Given the description of an element on the screen output the (x, y) to click on. 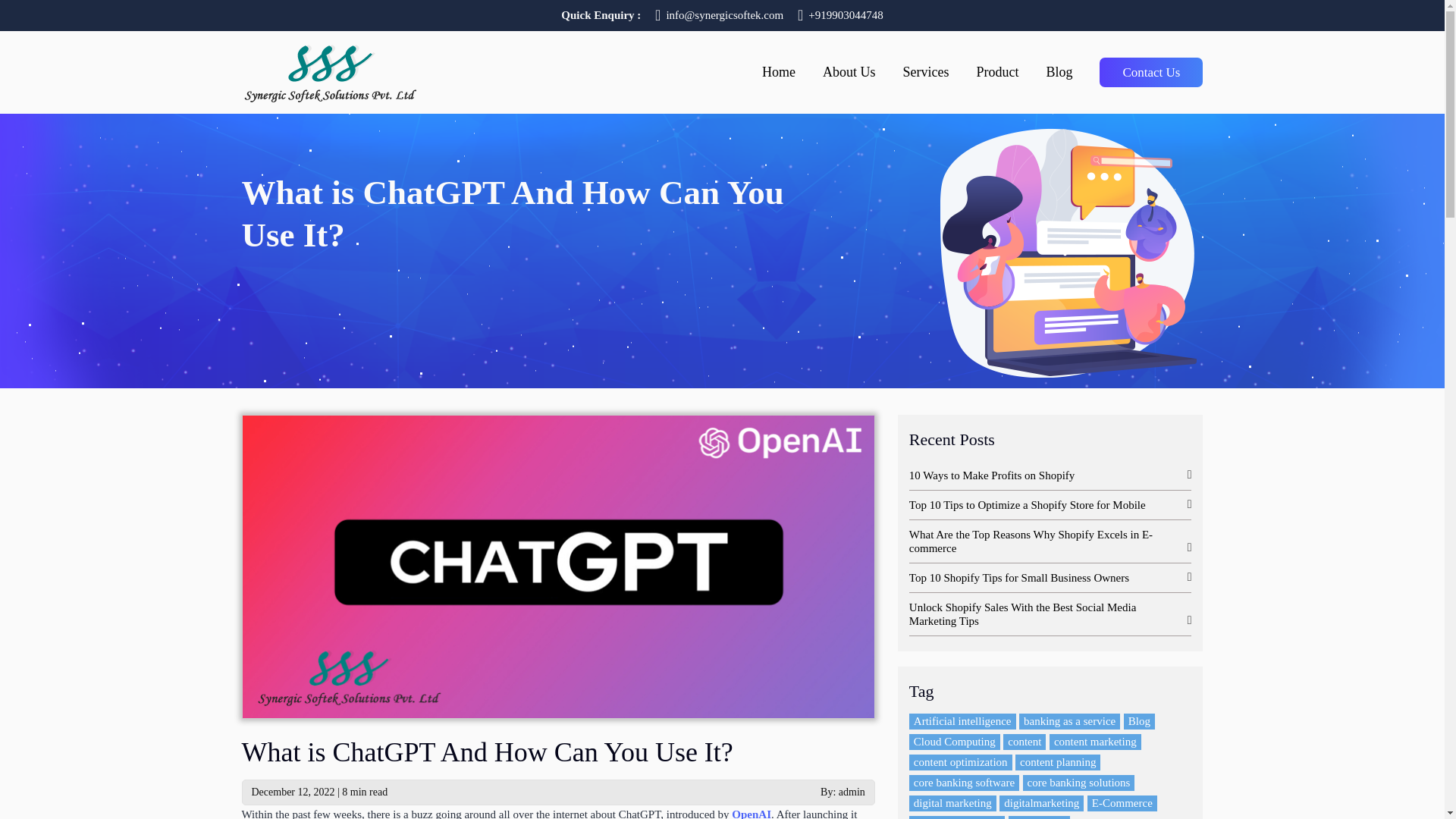
About Us (849, 78)
Services (925, 78)
Home (777, 78)
Website Design and Development Company in Kolkata (328, 70)
